Given the description of an element on the screen output the (x, y) to click on. 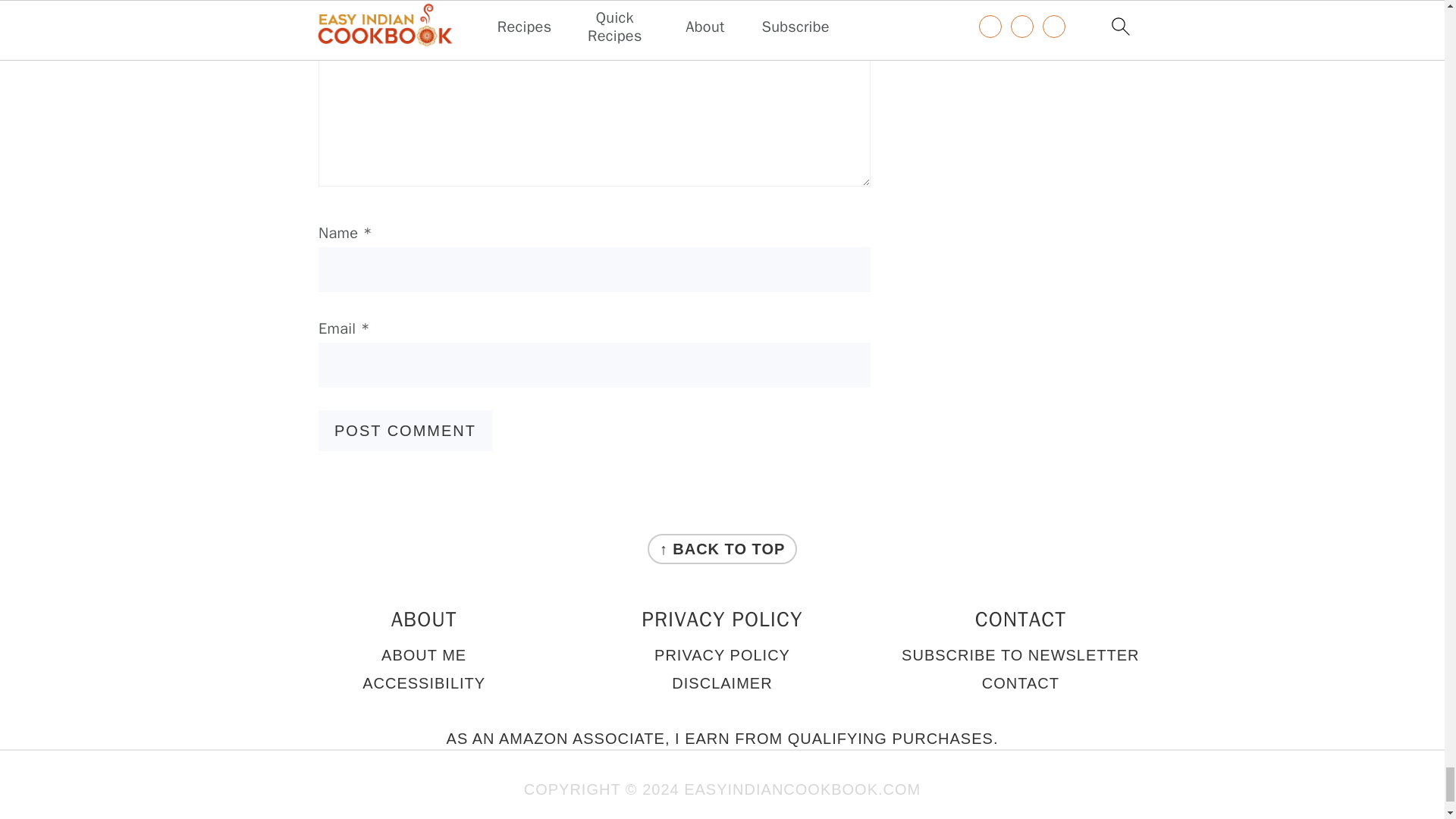
Post Comment (405, 430)
